Given the description of an element on the screen output the (x, y) to click on. 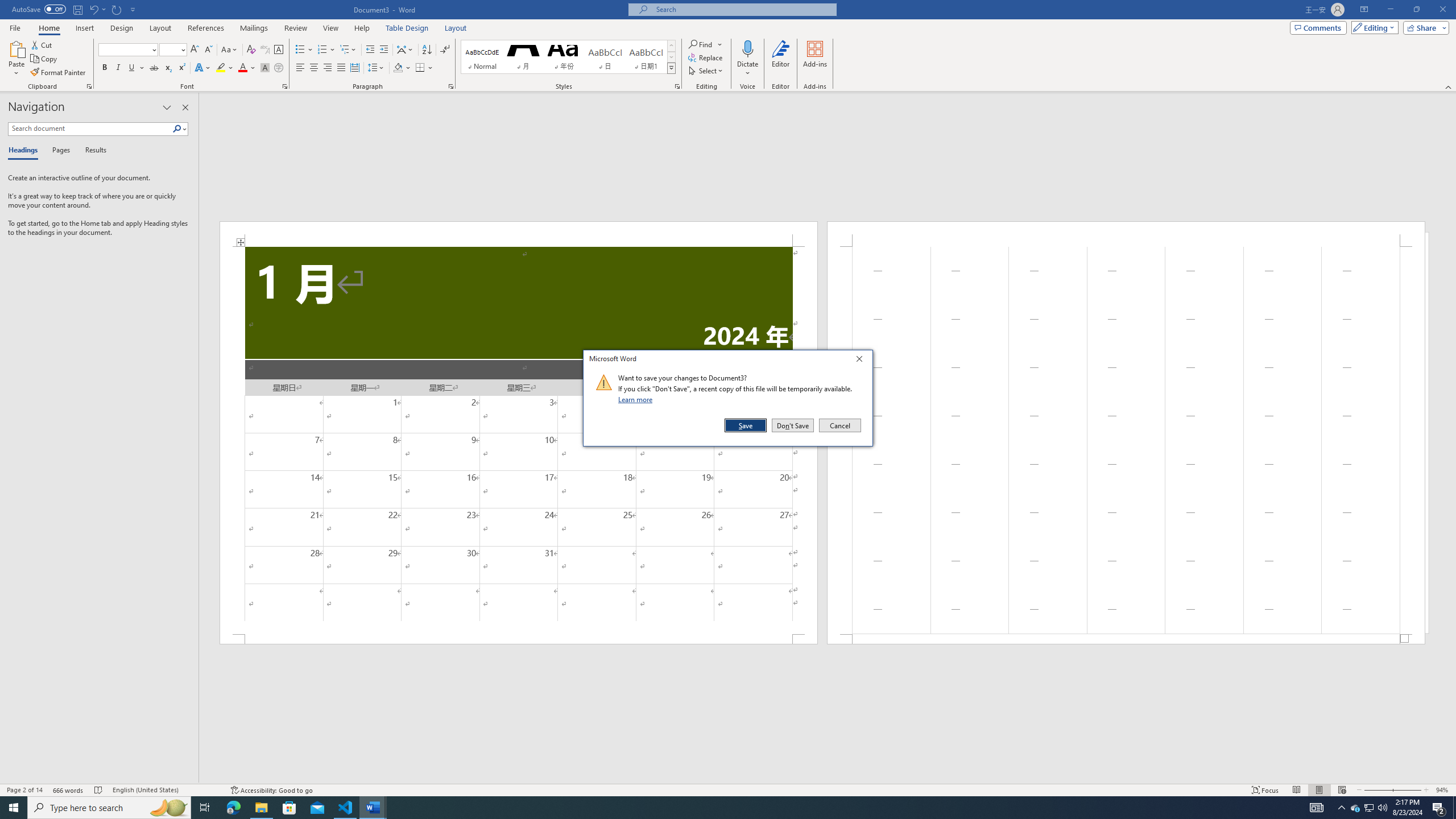
Home (48, 28)
Share (1423, 27)
Justify (340, 67)
Print Layout (1318, 790)
Find (700, 44)
Zoom Out (1377, 790)
Page Number Page 2 of 14 (24, 790)
Close (862, 360)
Web Layout (1342, 790)
Phonetic Guide... (264, 49)
Replace... (705, 56)
Subscript (167, 67)
Character Border (278, 49)
